Given the description of an element on the screen output the (x, y) to click on. 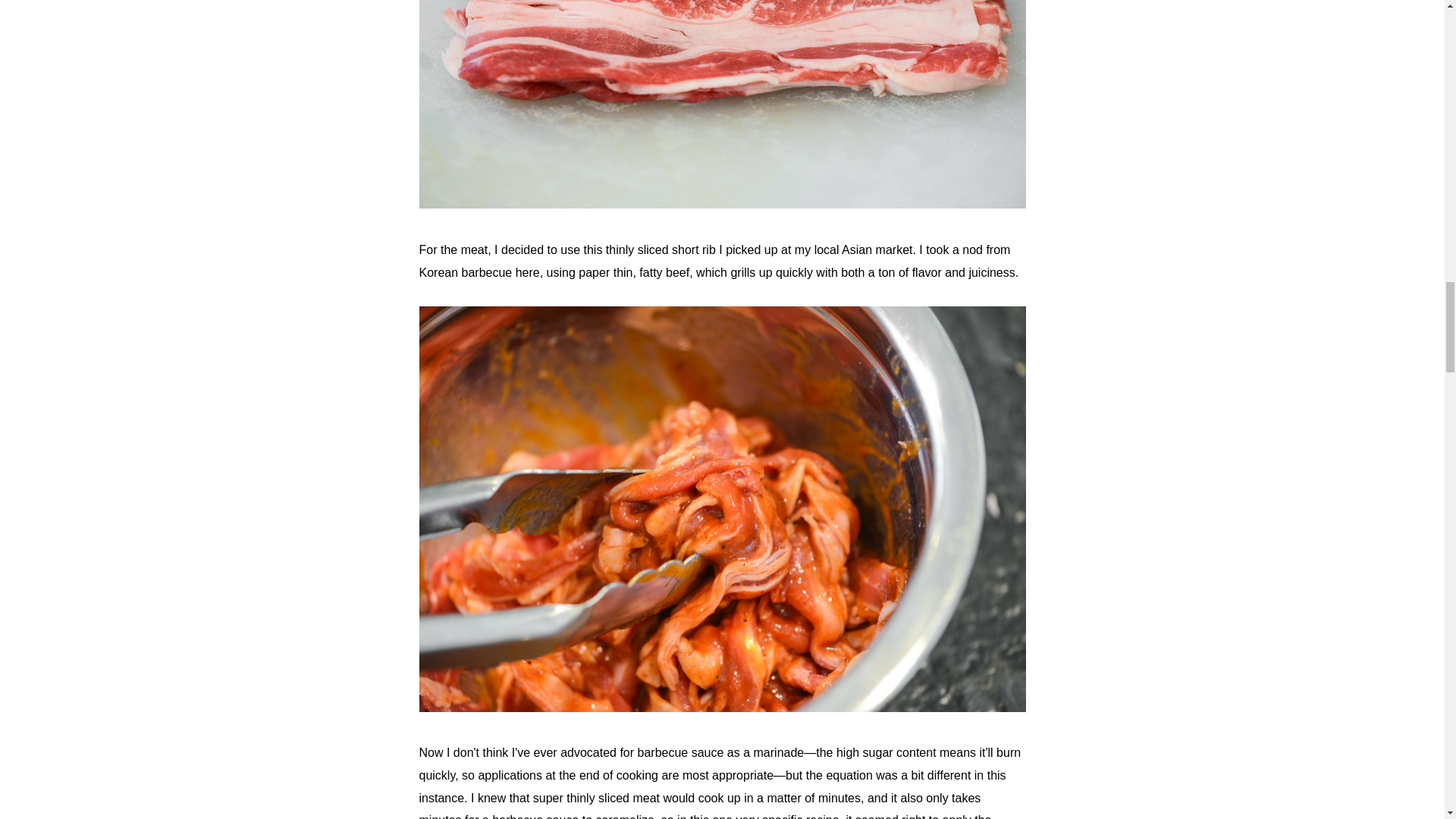
Barbecue Beef Lettuce Wraps (722, 707)
Barbecue Beef Lettuce Wraps (722, 204)
